Given the description of an element on the screen output the (x, y) to click on. 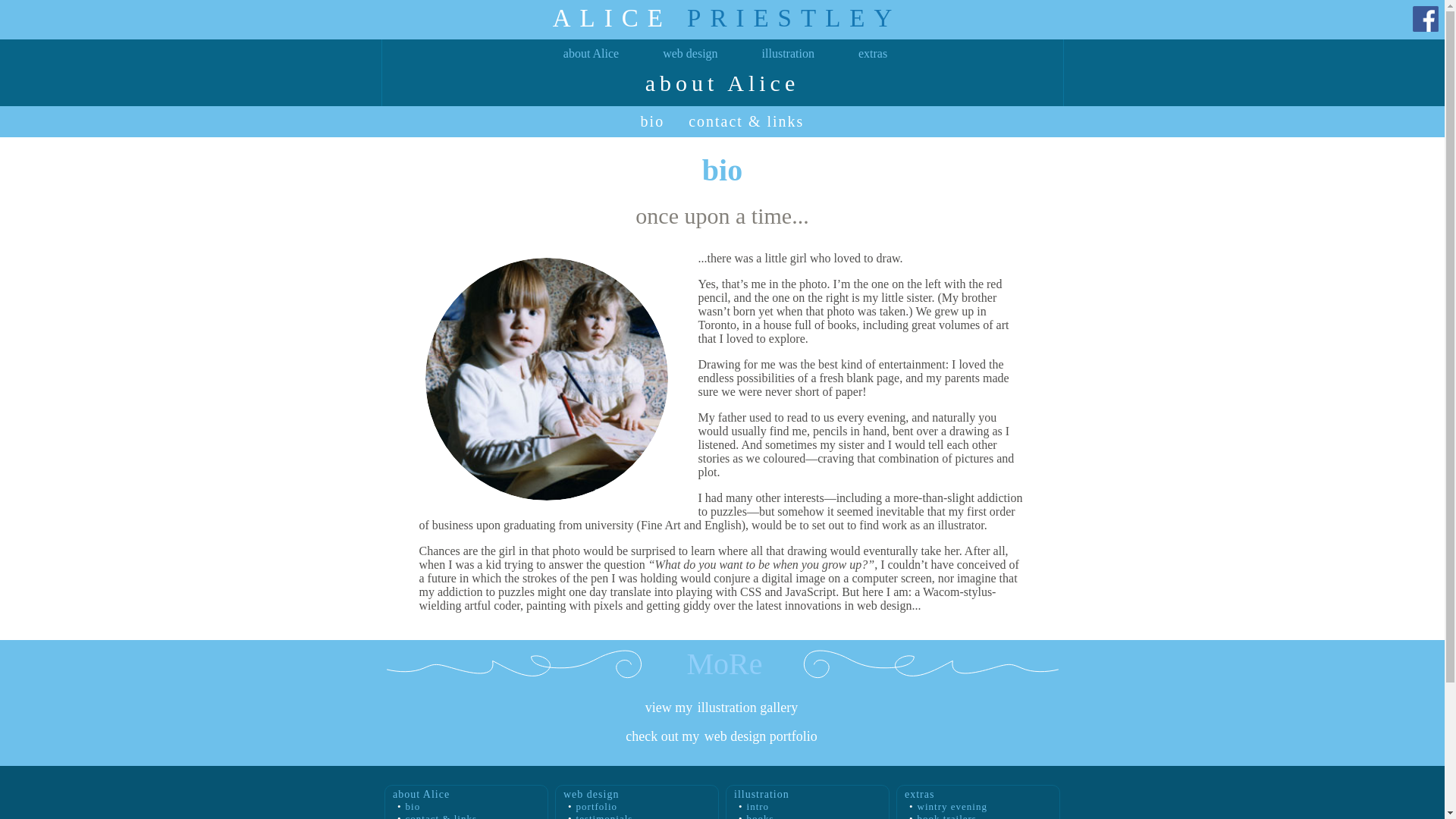
books (753, 816)
illustration gallery (747, 707)
wintry evening (945, 806)
intro (750, 806)
extras (872, 53)
portfolio (590, 806)
bio (652, 121)
bio (406, 806)
illustration (788, 53)
web design (689, 53)
about Alice (590, 53)
book trailers (940, 816)
web design portfolio (760, 736)
